Given the description of an element on the screen output the (x, y) to click on. 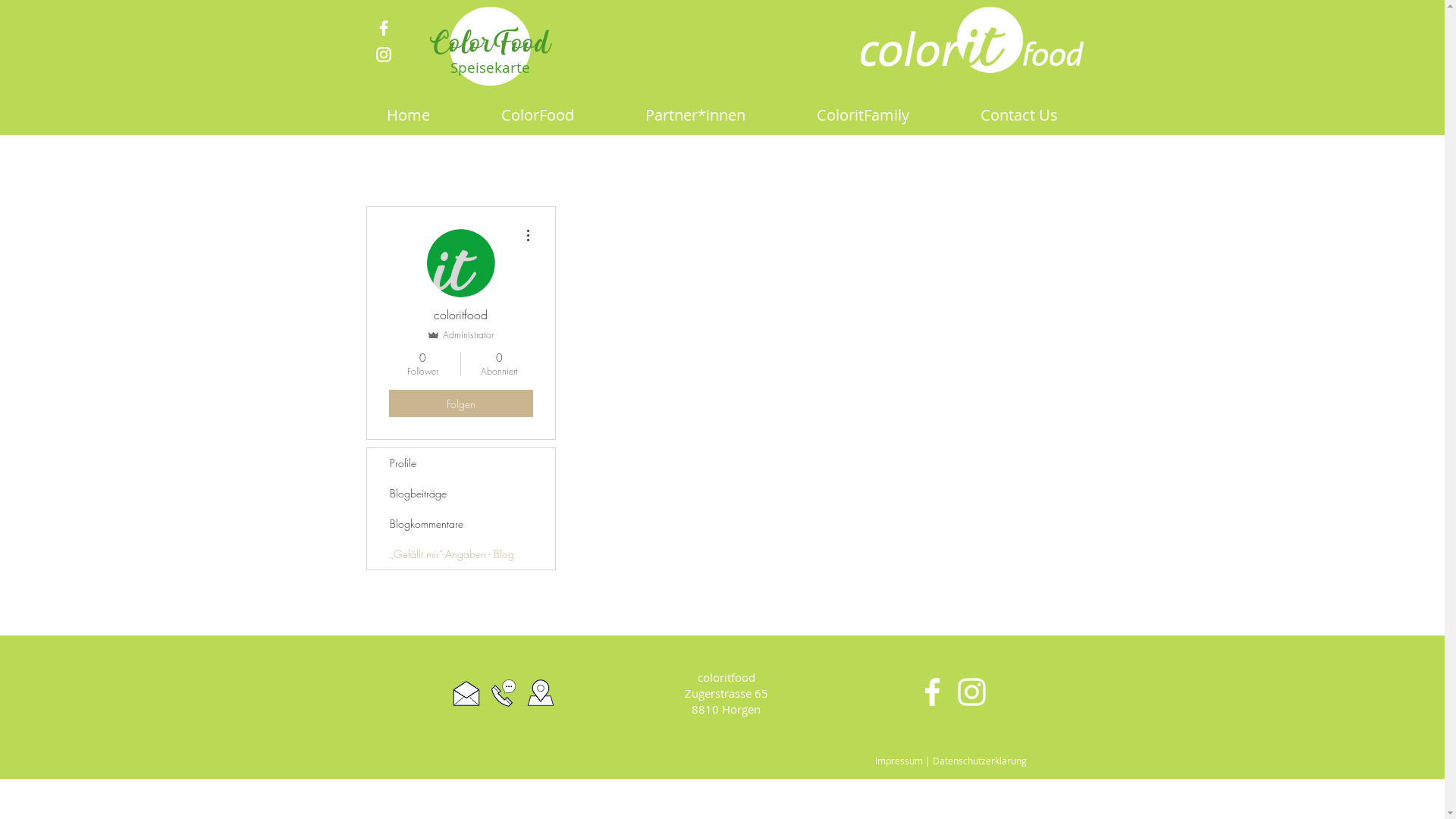
Partner*innen Element type: text (695, 114)
Home Element type: text (407, 114)
ColoritFamily Element type: text (862, 114)
Contact Us Element type: text (1018, 114)
ColorFood Element type: text (490, 39)
ColorFood Element type: text (537, 114)
mpressum Element type: text (899, 760)
0
Follower Element type: text (421, 363)
Folgen Element type: text (460, 403)
0
Abonniert Element type: text (499, 363)
Blog Likes Element type: hover (827, 407)
Profile Element type: text (461, 463)
Blogkommentare Element type: text (461, 523)
Speisekarte Element type: text (490, 67)
